Given the description of an element on the screen output the (x, y) to click on. 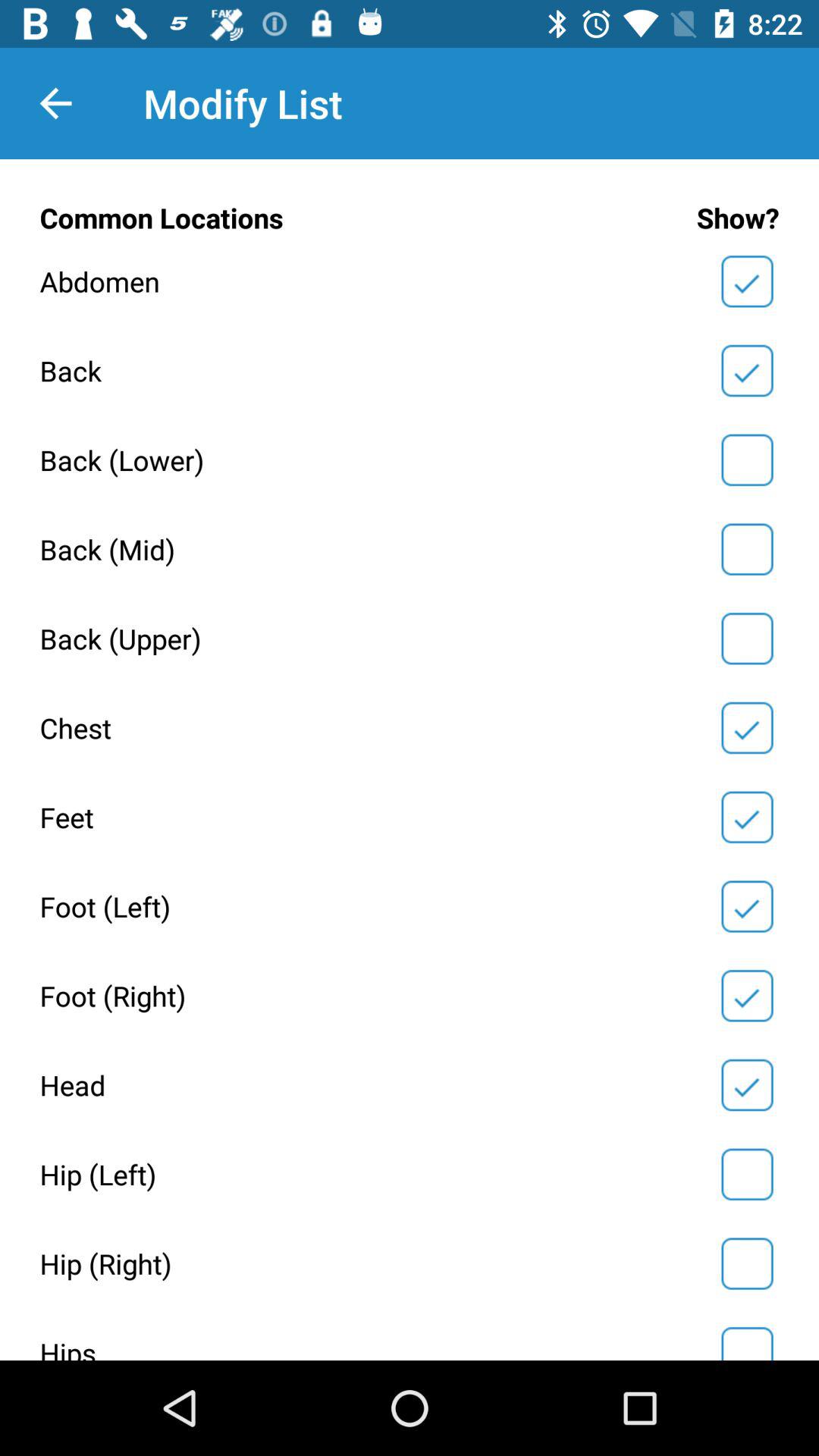
toggle show hip left (747, 1174)
